Given the description of an element on the screen output the (x, y) to click on. 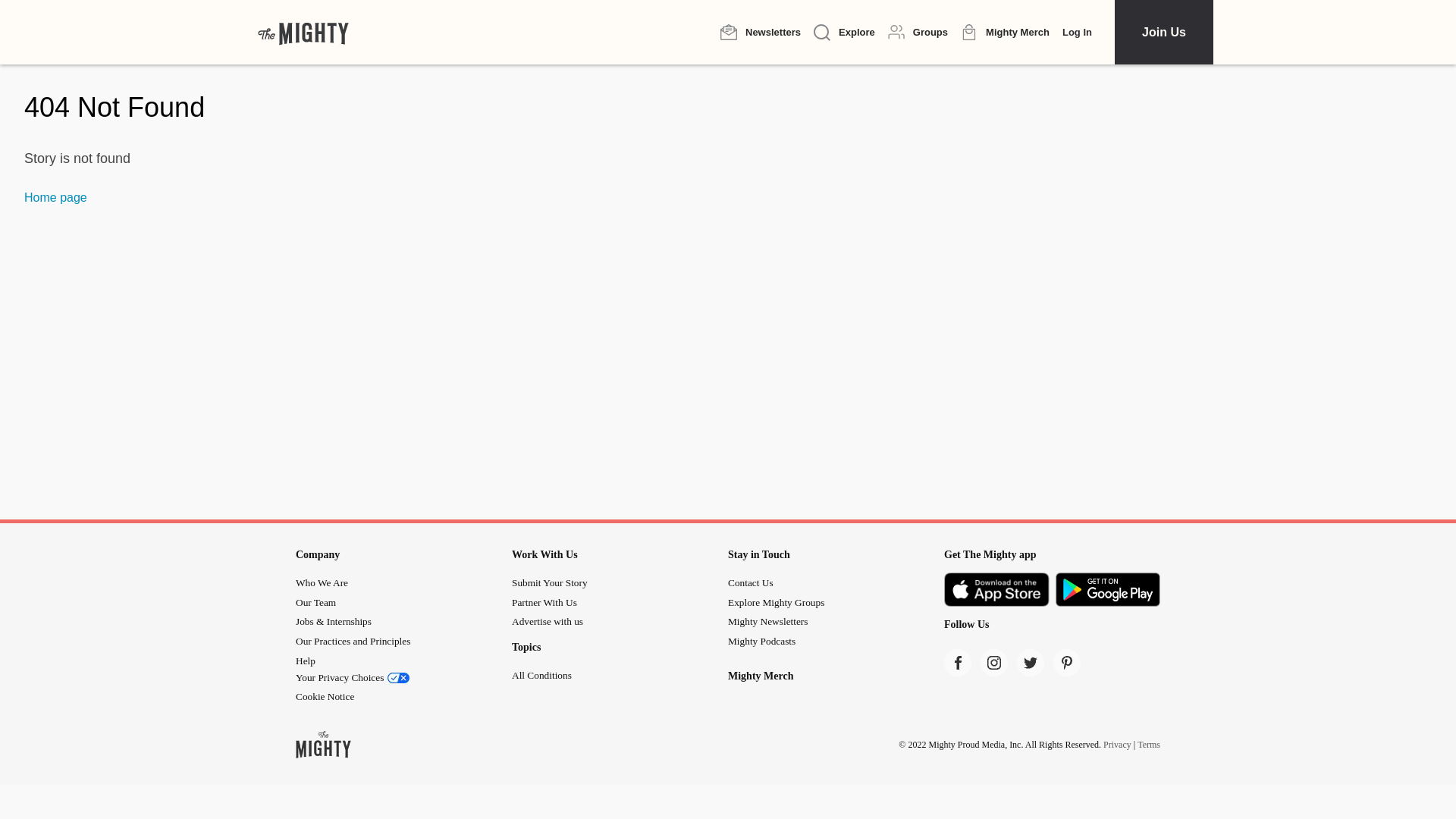
Groups (917, 32)
Explore Mighty Groups (776, 602)
Our Team (315, 602)
Your Privacy Choices (403, 677)
Partner With Us (544, 602)
Cookie Notice (324, 696)
Privacy (1117, 744)
Newsletters (760, 31)
The Mighty (303, 32)
Submit Your Story (550, 582)
Contact Us (750, 582)
Explore (844, 32)
Terms (1148, 744)
Join Us (1163, 32)
Advertise with us (547, 621)
